Given the description of an element on the screen output the (x, y) to click on. 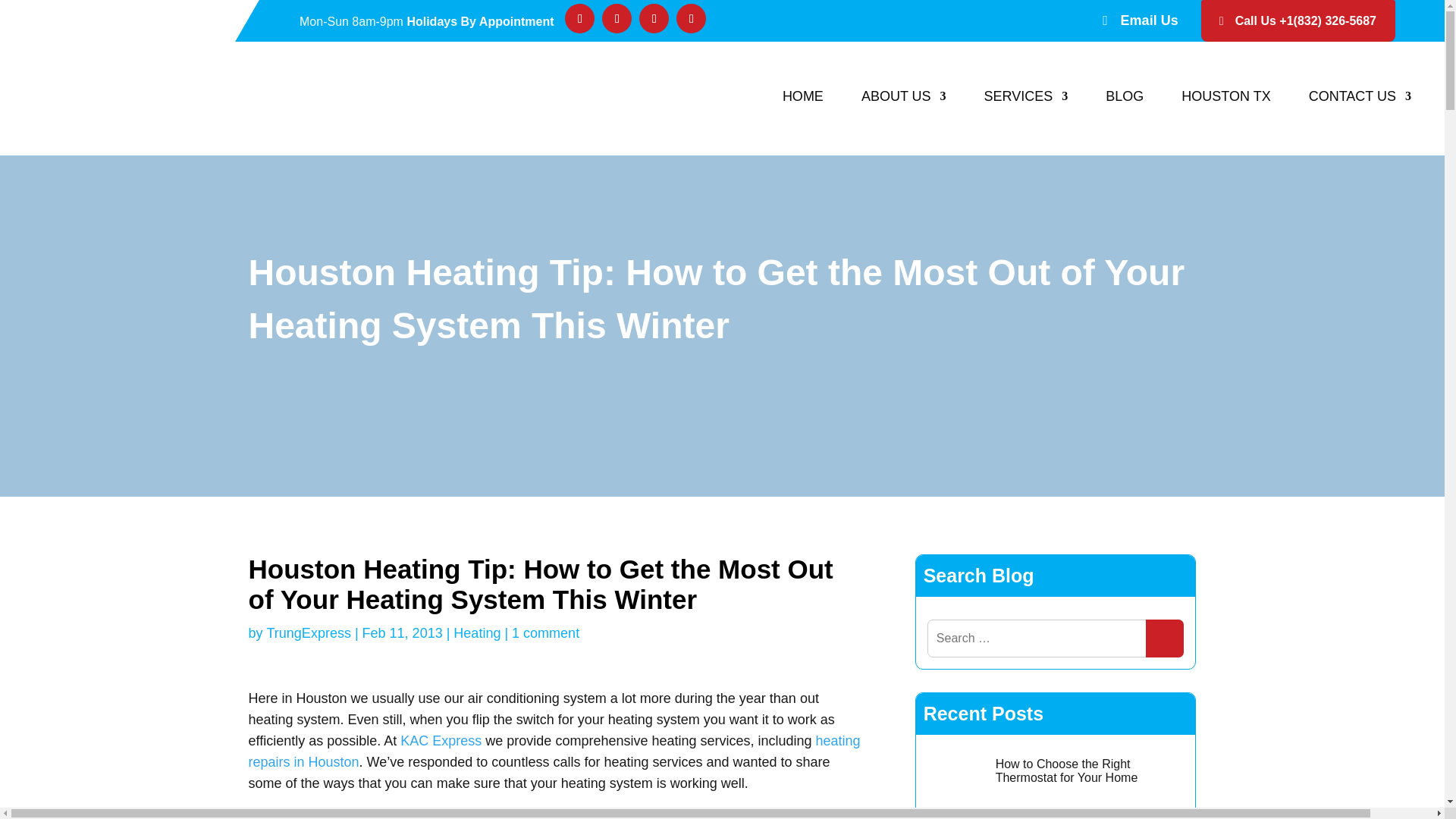
Email Us (1149, 20)
Follow on Facebook (579, 18)
Follow on Twitter (616, 18)
Follow on Youtube (653, 18)
new-logo (150, 98)
Posts by TrungExpress (308, 636)
ABOUT US (903, 95)
HOME (803, 95)
Follow on Instagram (691, 18)
SERVICES (1026, 95)
